Given the description of an element on the screen output the (x, y) to click on. 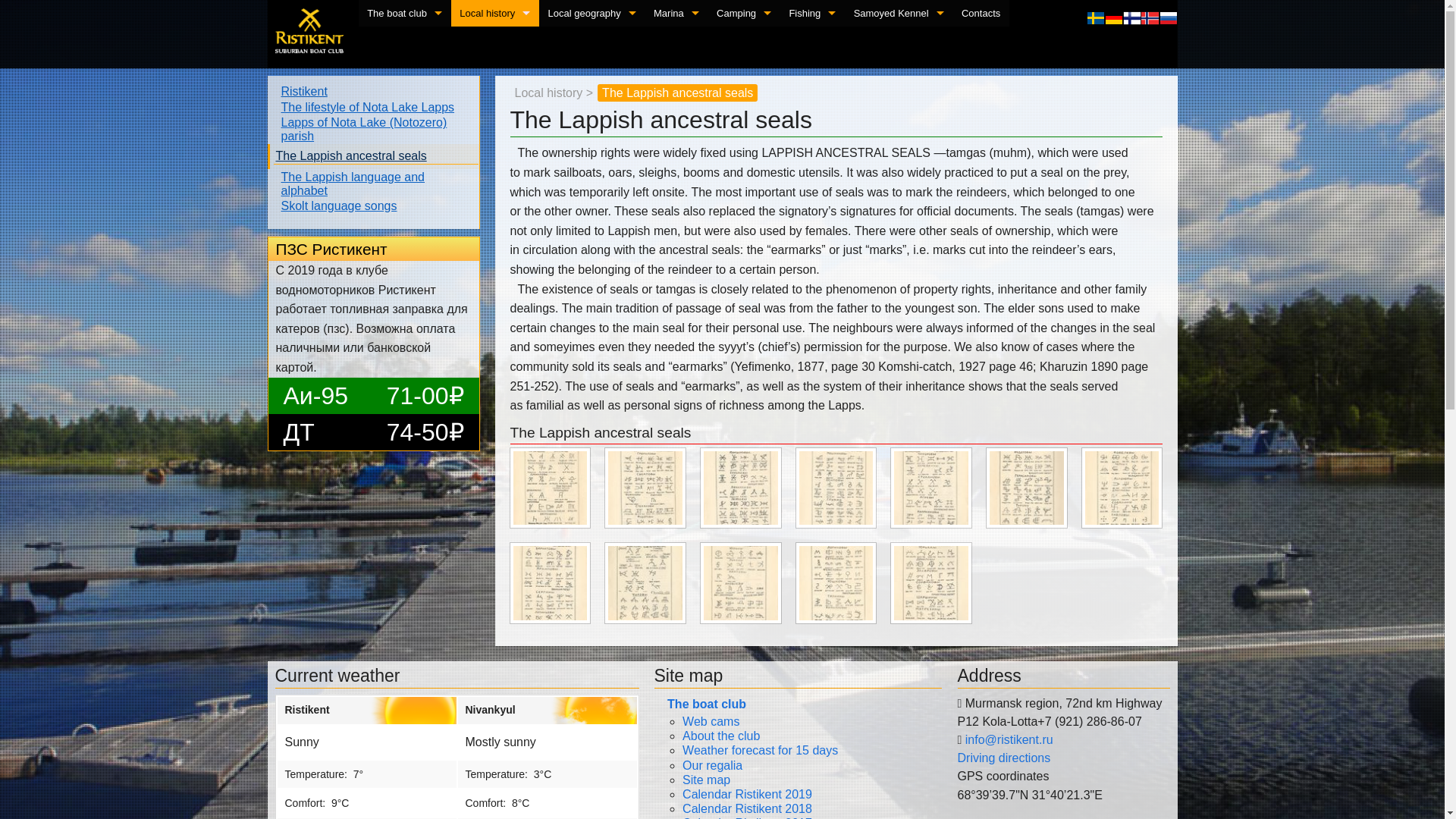
Mooring for boats longer than 9 meters (676, 119)
The fish gate of Lower-Tuloma HEP (591, 225)
About the club (403, 66)
The Tuloma River (591, 119)
The Lappish language and alphabet (494, 145)
Ristikent (494, 39)
Our regalia (403, 119)
Local history (494, 13)
The Javr river (591, 66)
The boat club (403, 13)
Skolt language songs (494, 171)
Fish gate at Upper Tuloma HEP (591, 171)
Calendar Ristikent 2017 (403, 225)
Marina (676, 13)
Web cams (403, 39)
